Given the description of an element on the screen output the (x, y) to click on. 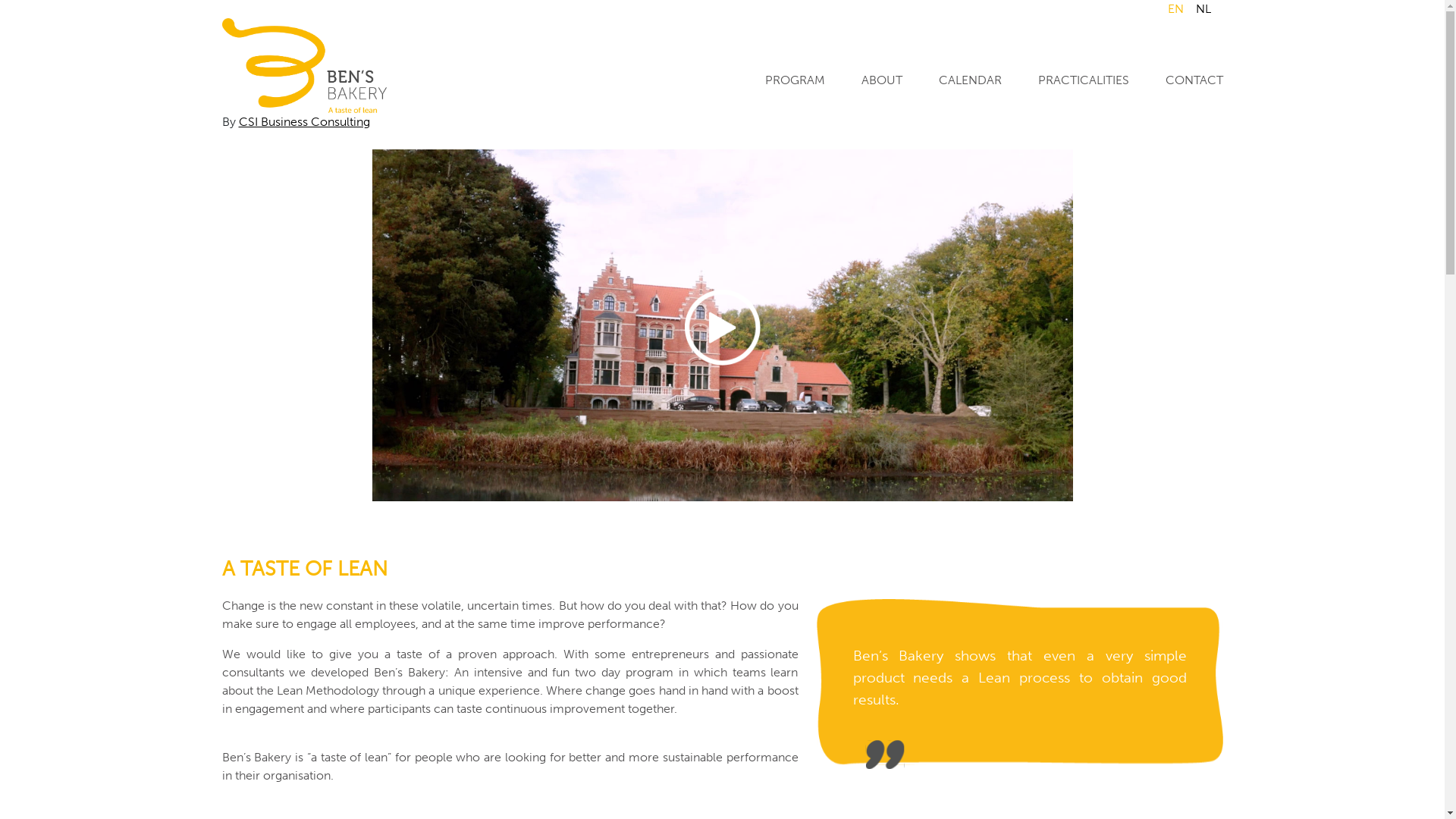
CONTACT Element type: text (1193, 79)
EN Element type: text (1175, 8)
NL Element type: text (1202, 8)
PROGRAM Element type: text (794, 79)
CALENDAR Element type: text (969, 79)
ABOUT Element type: text (881, 79)
PRACTICALITIES Element type: text (1082, 79)
CSI Business Consulting Element type: text (303, 121)
